Given the description of an element on the screen output the (x, y) to click on. 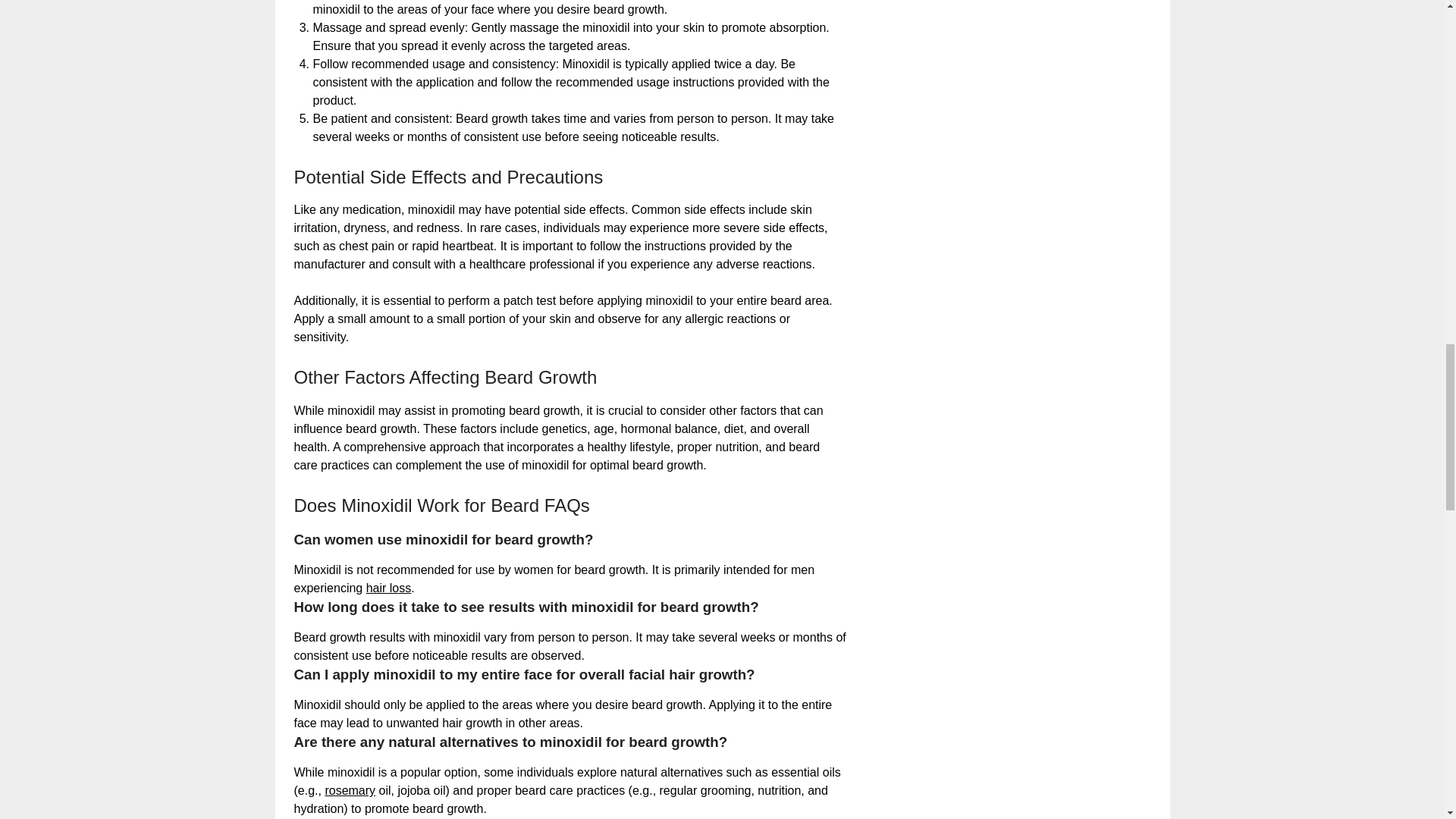
hair loss (389, 587)
rosemary (349, 789)
